Given the description of an element on the screen output the (x, y) to click on. 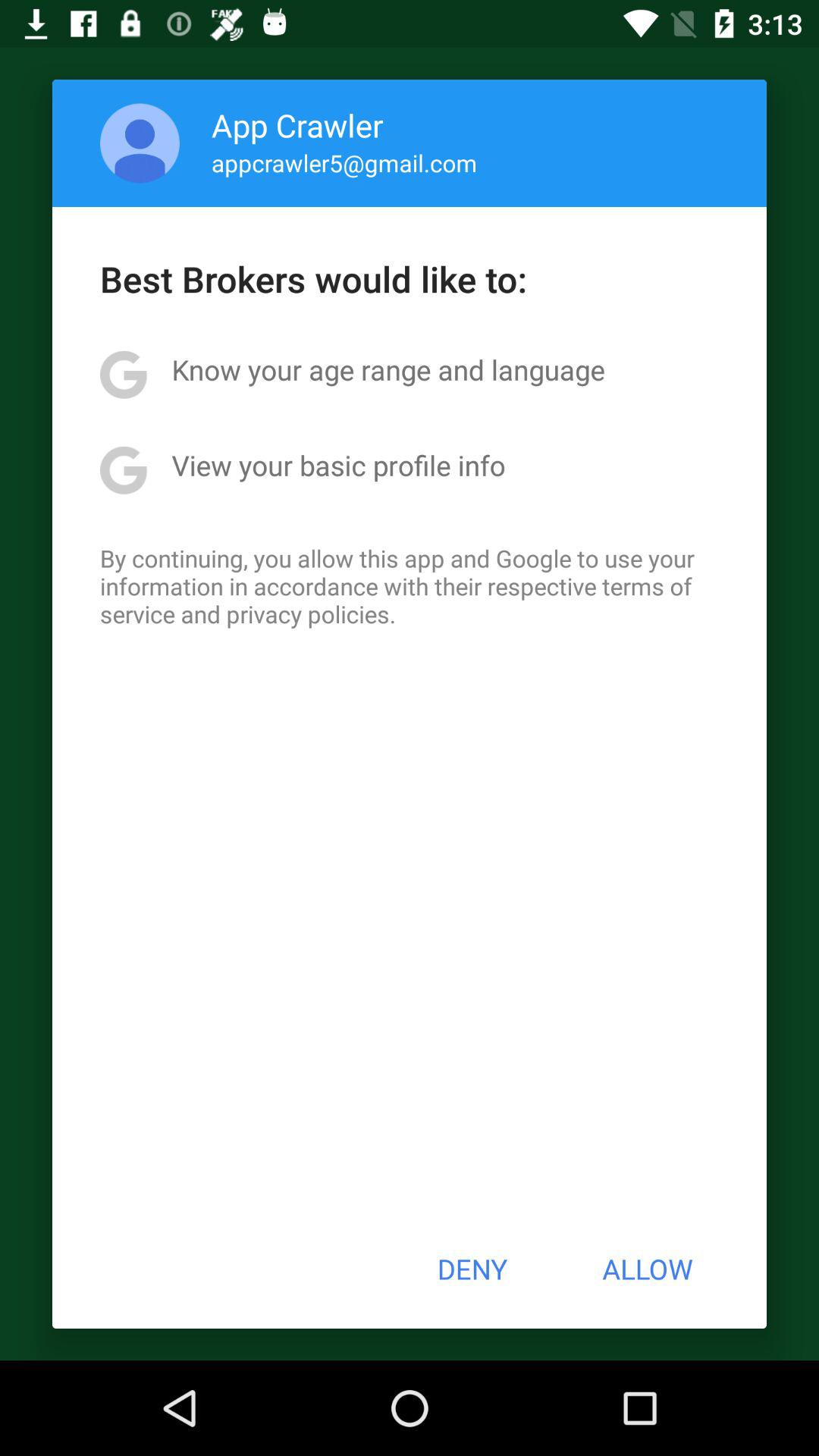
launch the item next to the app crawler app (139, 143)
